Given the description of an element on the screen output the (x, y) to click on. 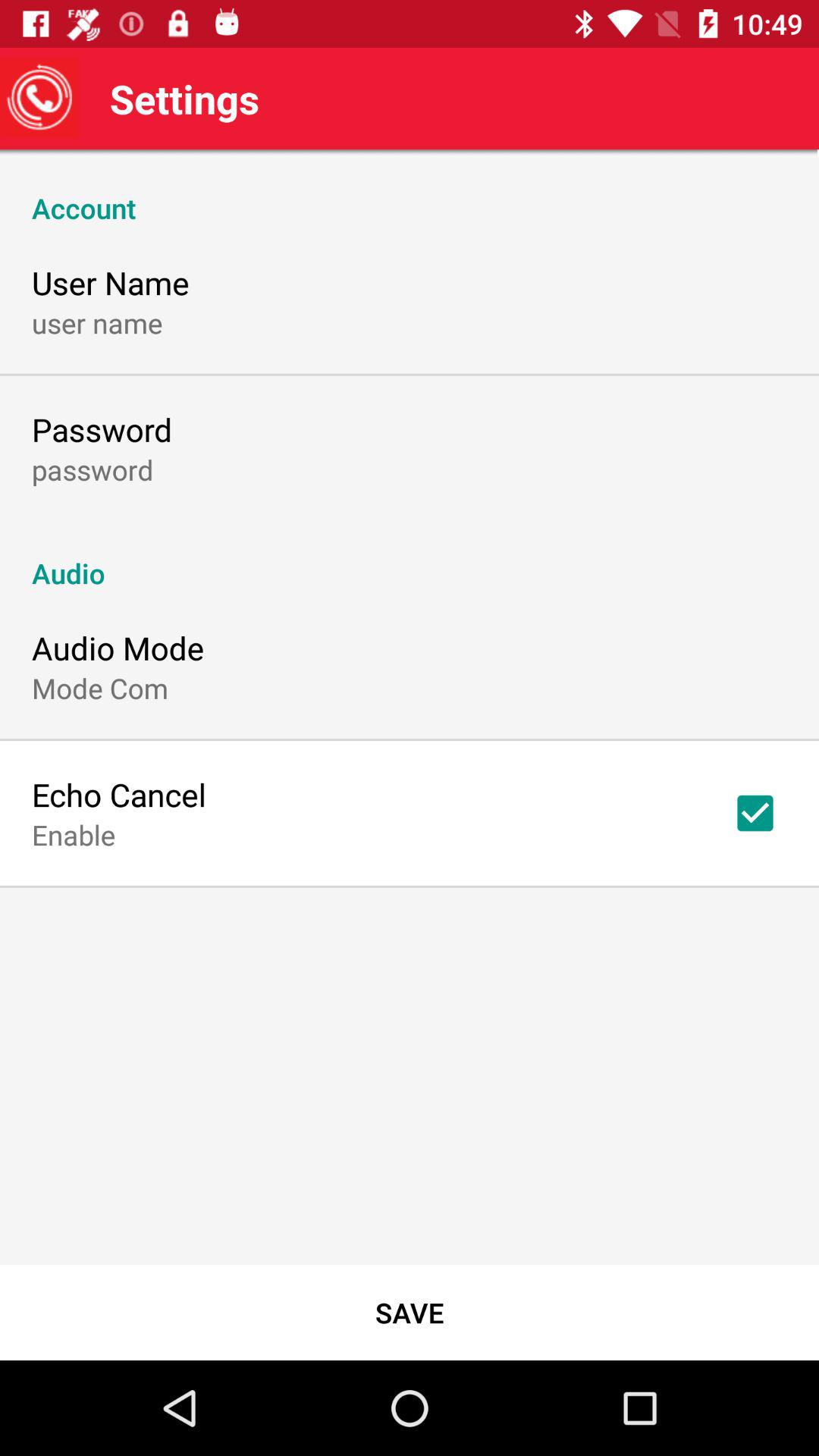
scroll to the mode com (99, 687)
